Given the description of an element on the screen output the (x, y) to click on. 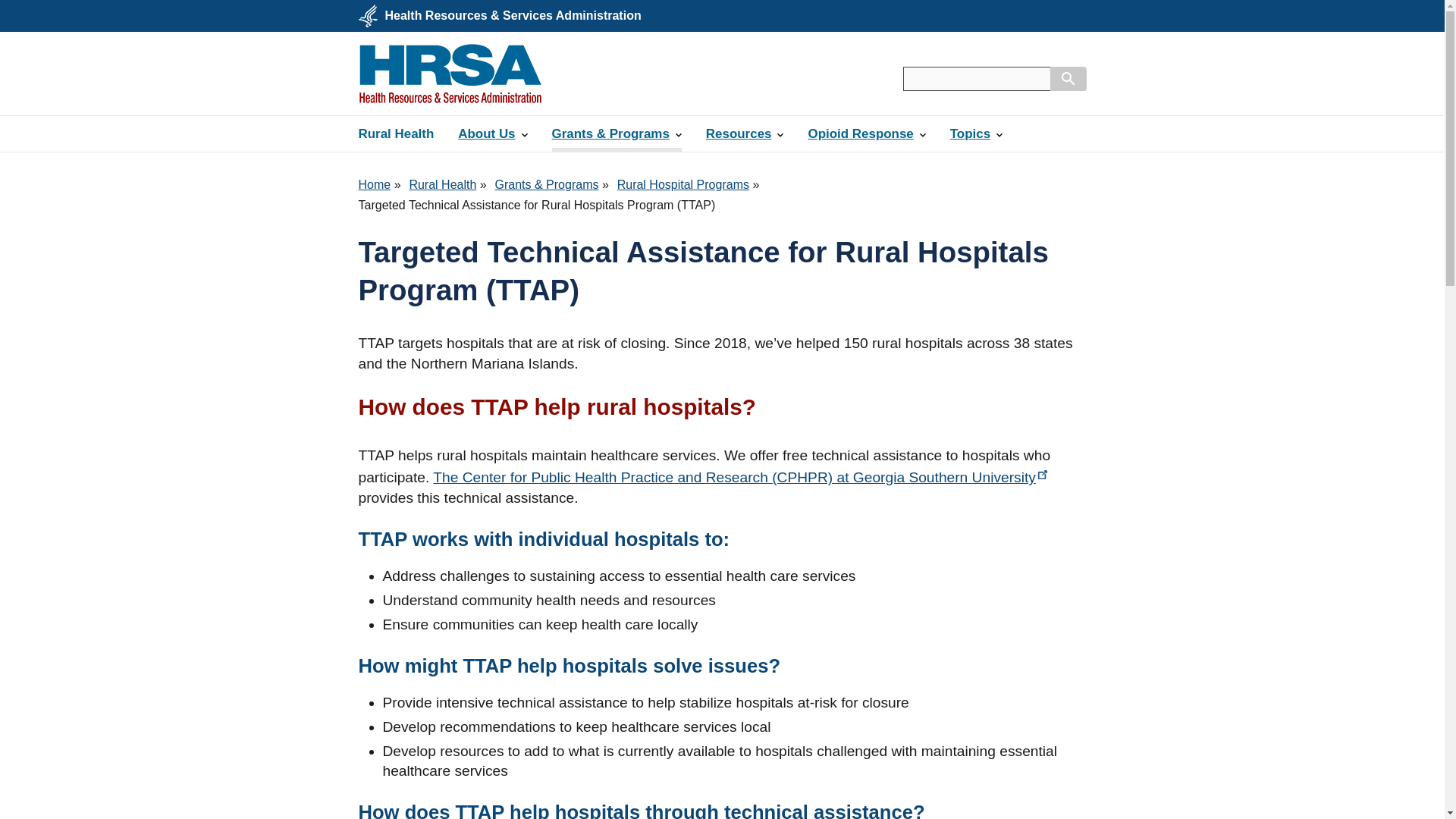
Home (374, 184)
About Us (491, 133)
Resources (745, 133)
Rural Hospital Programs (683, 184)
Topics (975, 133)
Rural Health (442, 184)
Rural Health (395, 133)
Opioid Response (865, 133)
Enter the terms you wish to search for. (975, 78)
HRSA (449, 73)
